Given the description of an element on the screen output the (x, y) to click on. 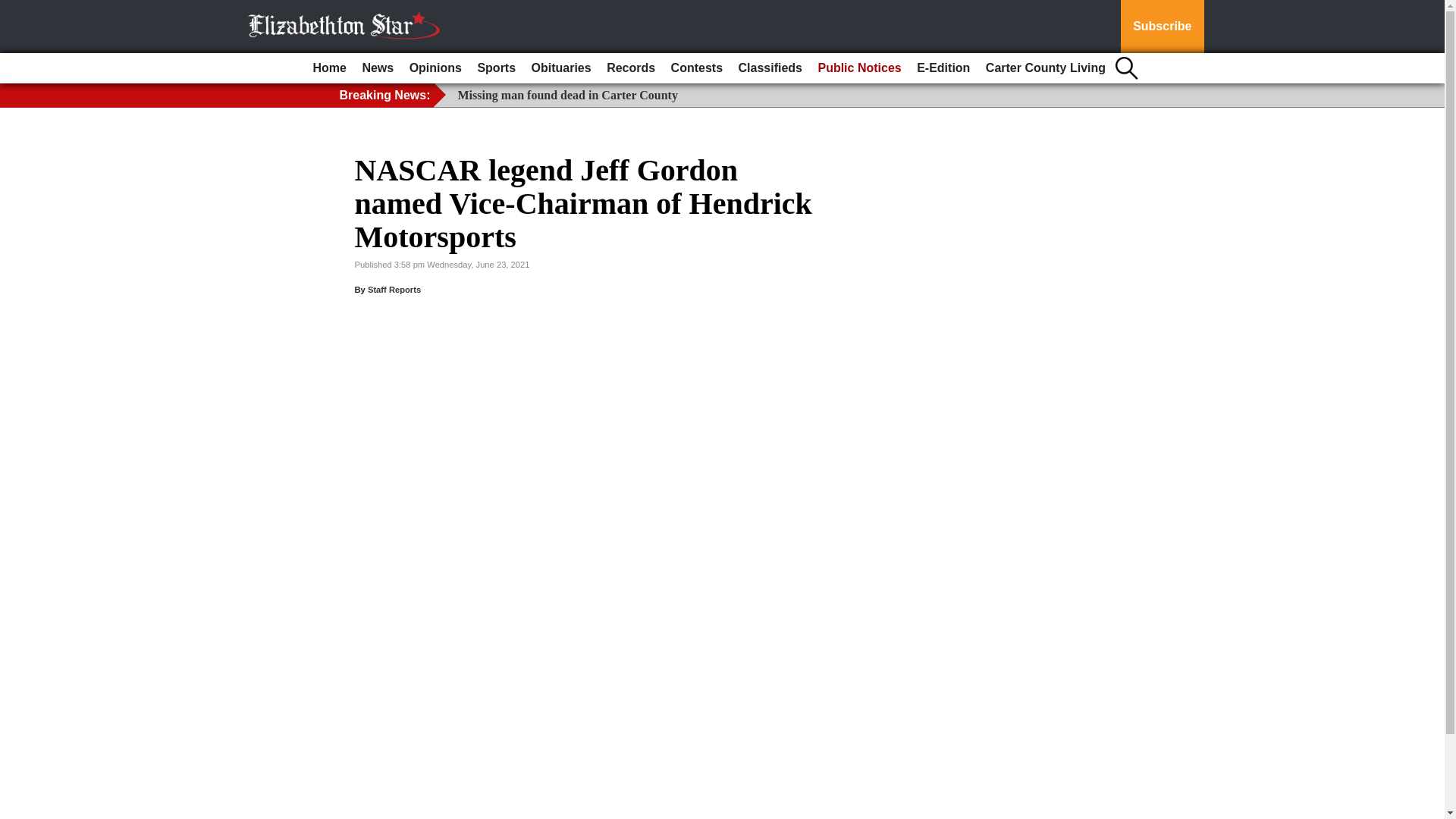
Classifieds (770, 68)
Missing man found dead in Carter County (568, 94)
News (376, 68)
Home (328, 68)
Sports (495, 68)
Contests (697, 68)
Staff Reports (394, 289)
Subscribe (1162, 26)
Obituaries (560, 68)
Go (13, 9)
Missing man found dead in Carter County (568, 94)
E-Edition (943, 68)
Records (630, 68)
Public Notices (858, 68)
Opinions (435, 68)
